Given the description of an element on the screen output the (x, y) to click on. 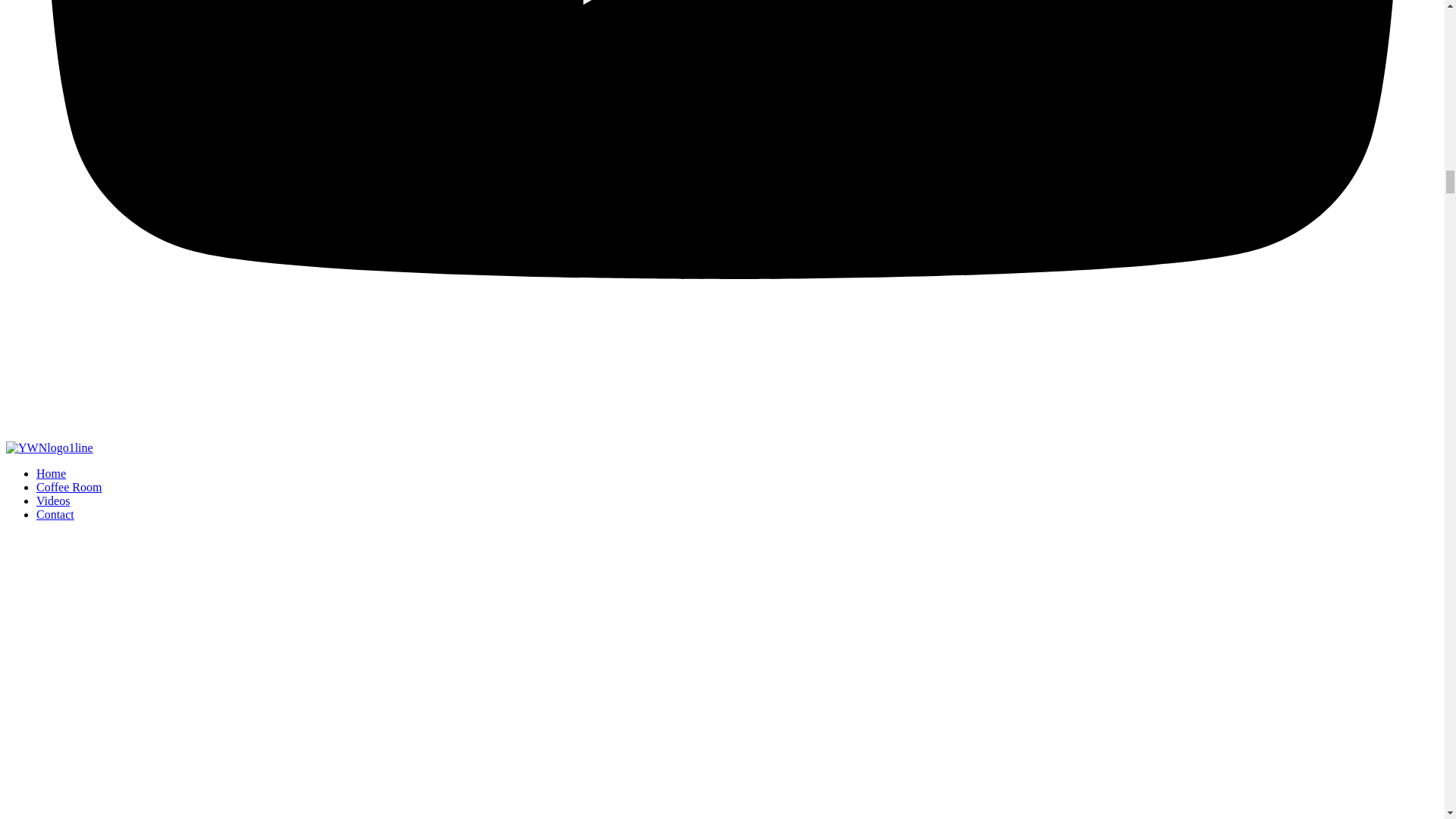
YWNlogo1line (49, 448)
Videos (52, 500)
Coffee Room (68, 486)
Contact (55, 513)
Home (50, 472)
